Given the description of an element on the screen output the (x, y) to click on. 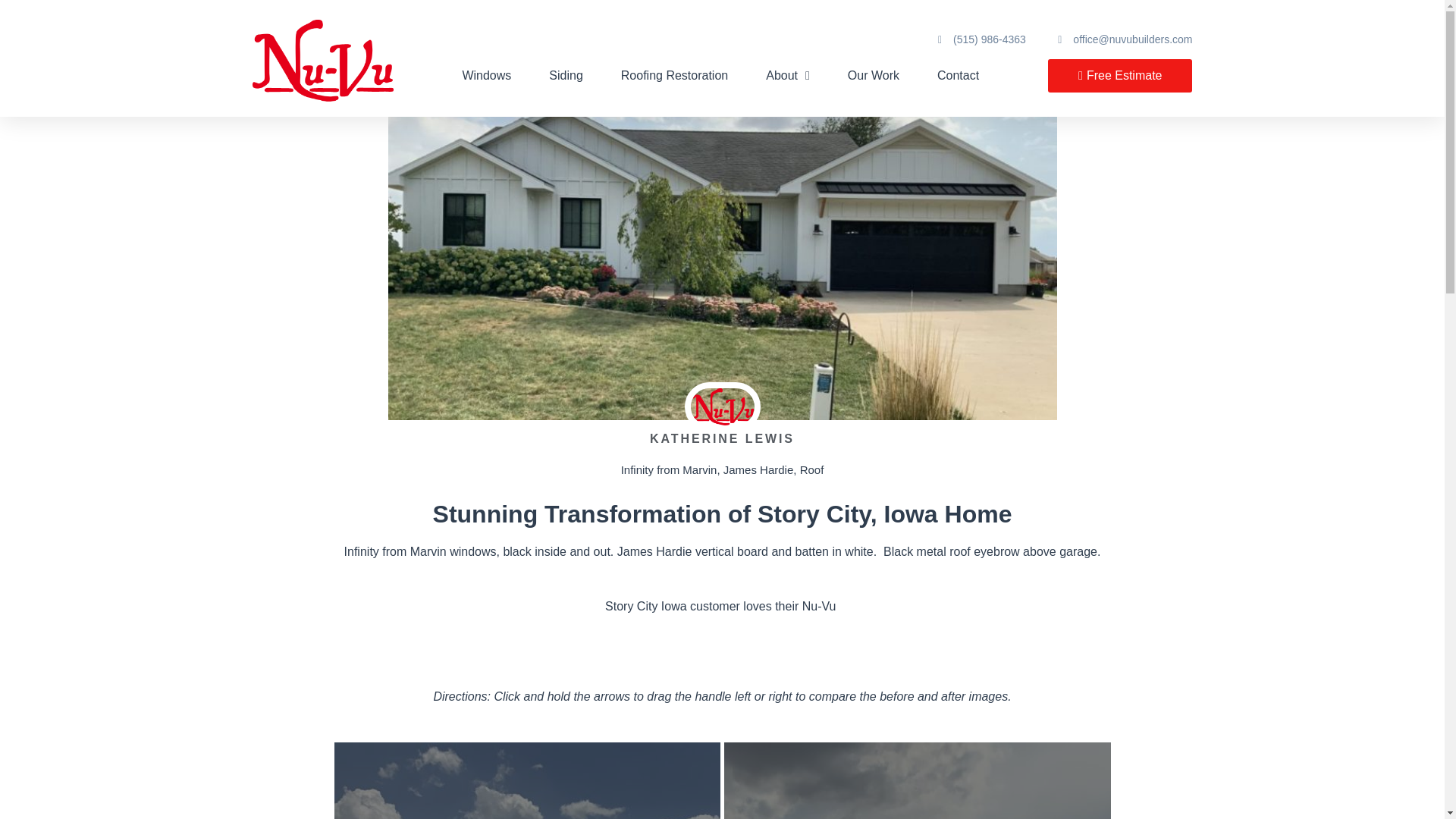
About (787, 75)
Roofing Restoration (674, 75)
Infinity from Marvin (669, 469)
Windows (486, 75)
Contact (957, 75)
Roof (811, 469)
Our Work (873, 75)
Free Estimate (1120, 75)
James Hardie (758, 469)
